Given the description of an element on the screen output the (x, y) to click on. 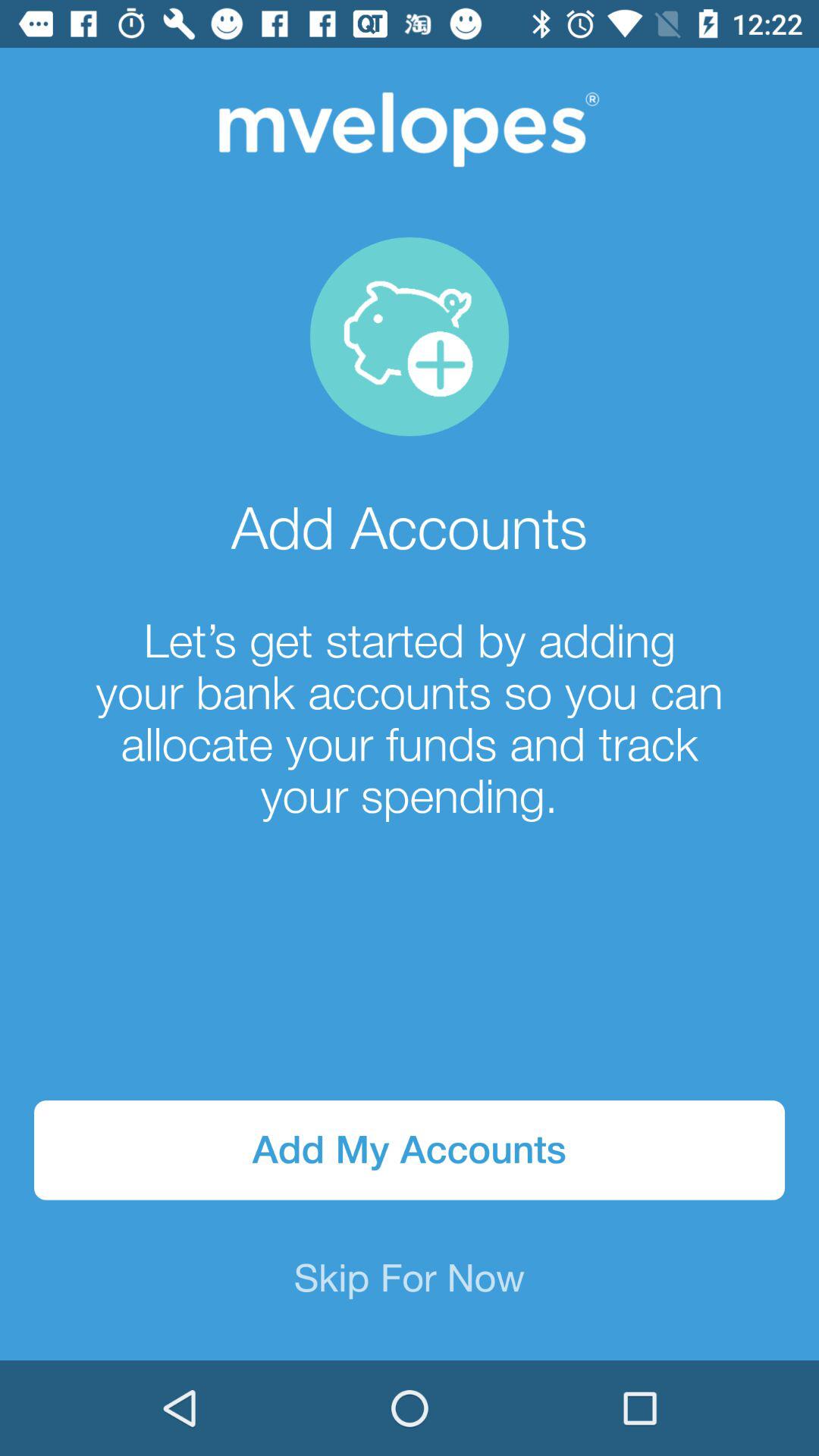
turn off the skip for now item (409, 1280)
